Given the description of an element on the screen output the (x, y) to click on. 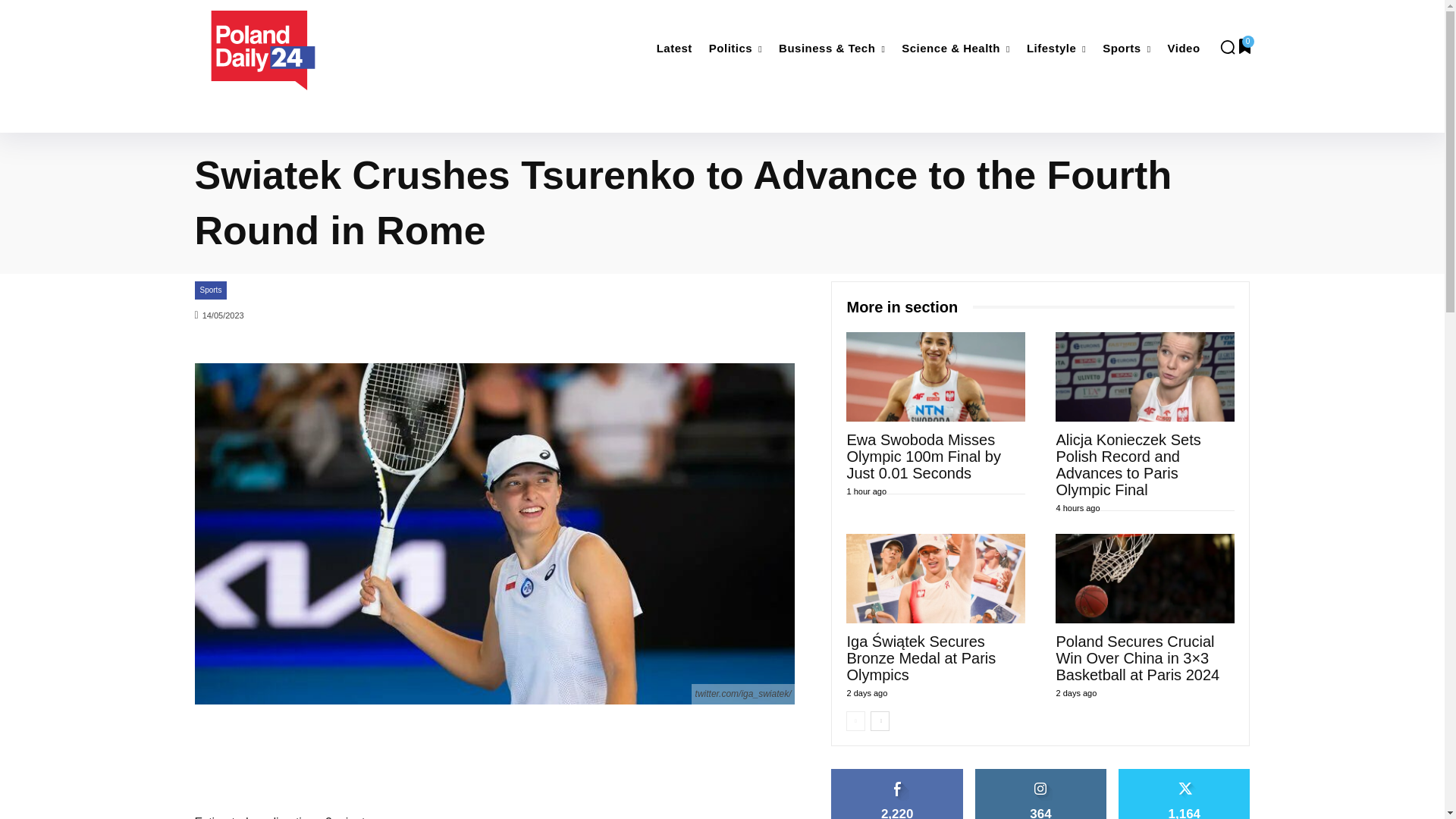
Politics (735, 48)
